Given the description of an element on the screen output the (x, y) to click on. 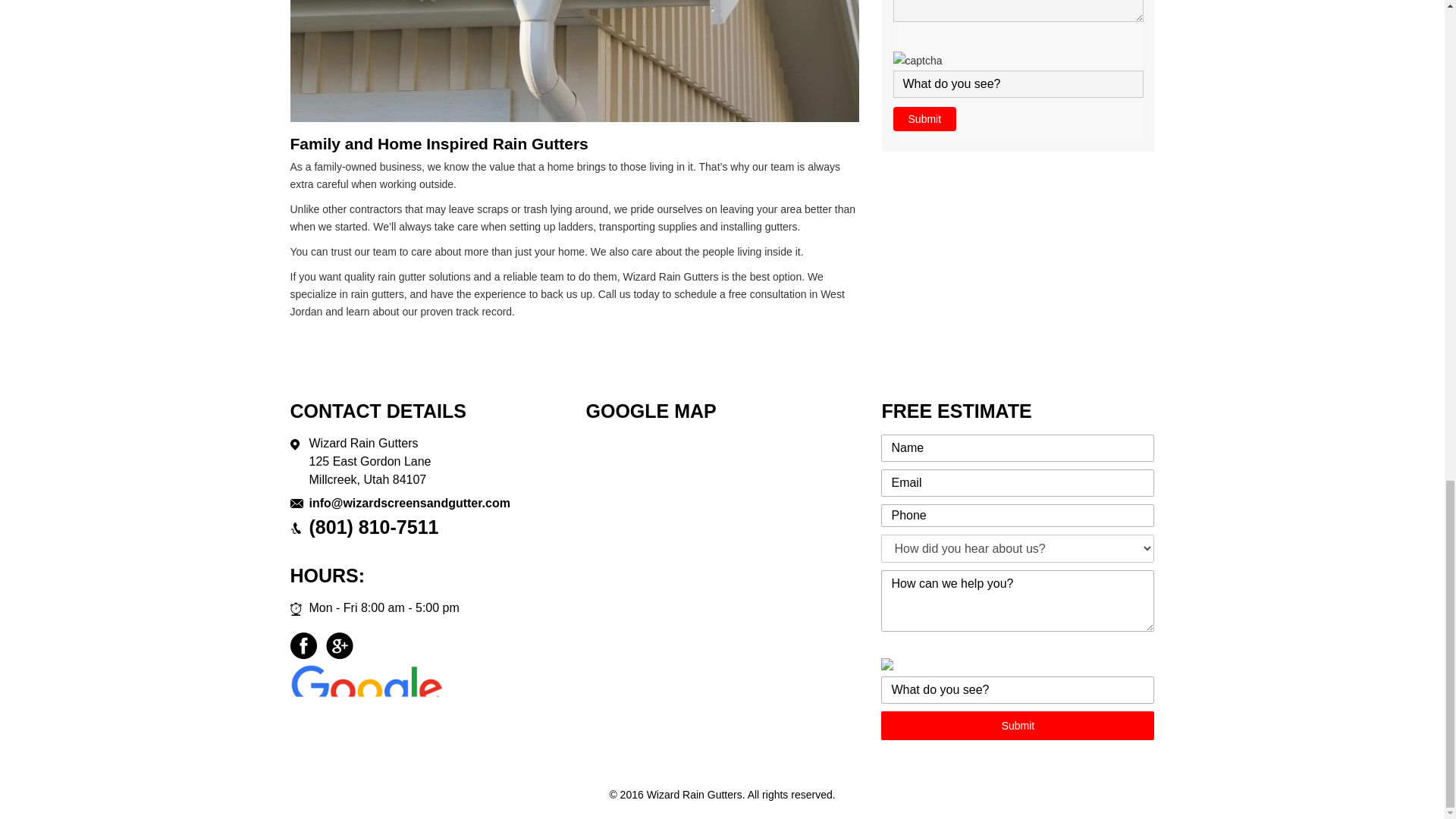
Submit (1017, 725)
Submit (924, 119)
google plus (338, 646)
Submit (1017, 725)
Submit (924, 119)
facebook (303, 646)
